Given the description of an element on the screen output the (x, y) to click on. 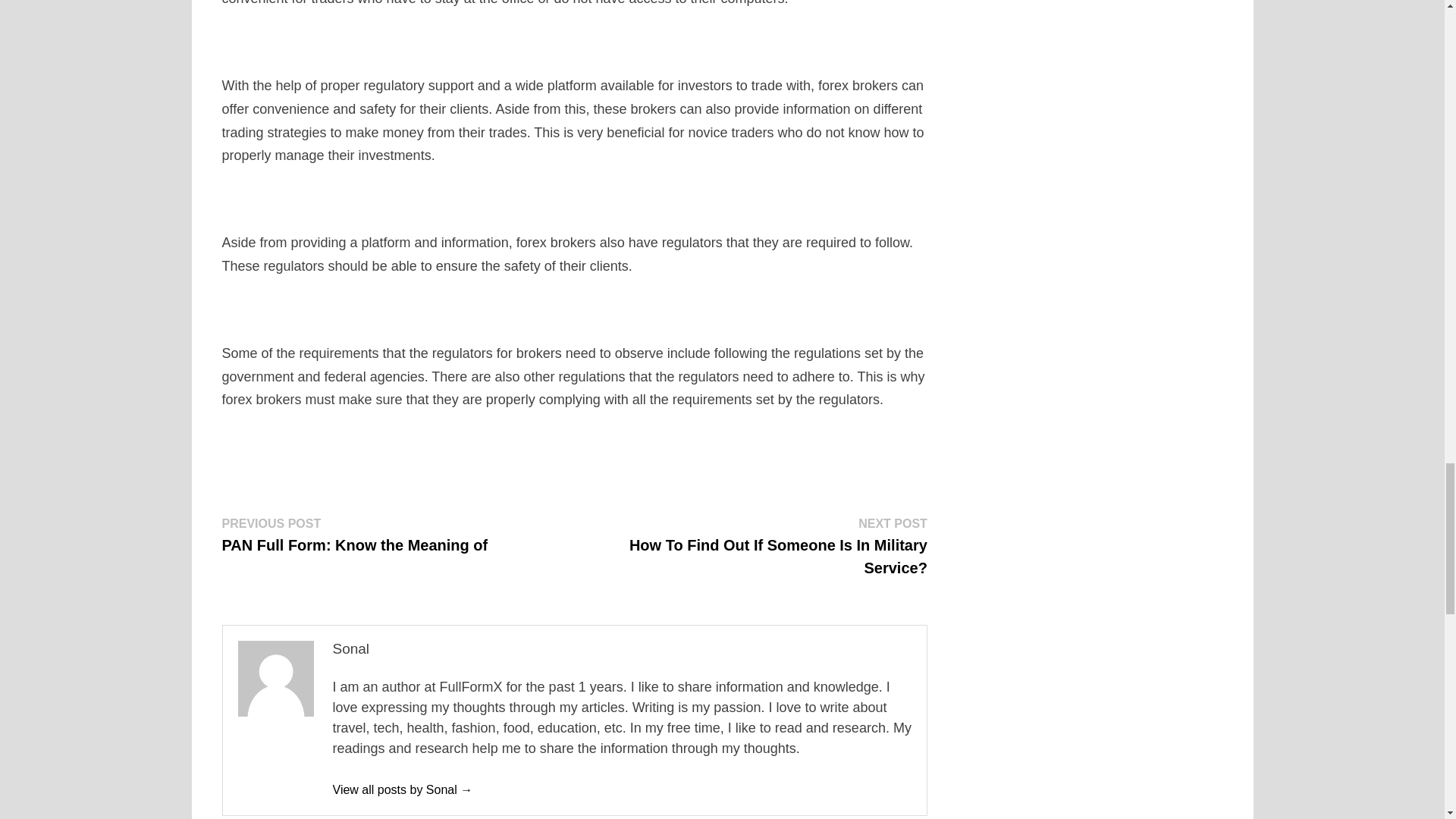
Sonal (401, 789)
